Given the description of an element on the screen output the (x, y) to click on. 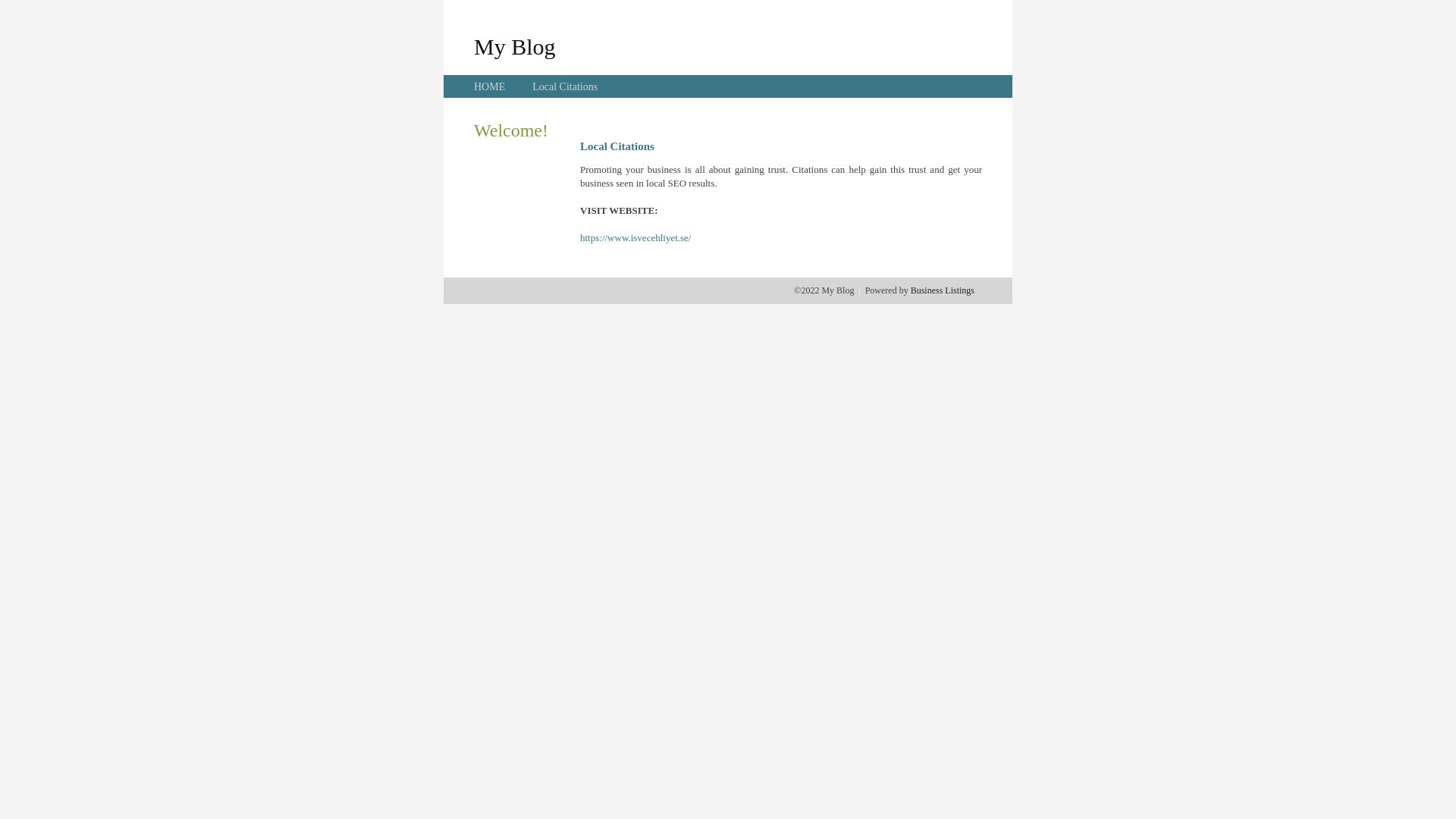
https://www.isvecehliyet.se/ Element type: text (635, 237)
Business Listings Element type: text (942, 290)
Local Citations Element type: text (564, 86)
My Blog Element type: text (514, 46)
HOME Element type: text (489, 86)
